Given the description of an element on the screen output the (x, y) to click on. 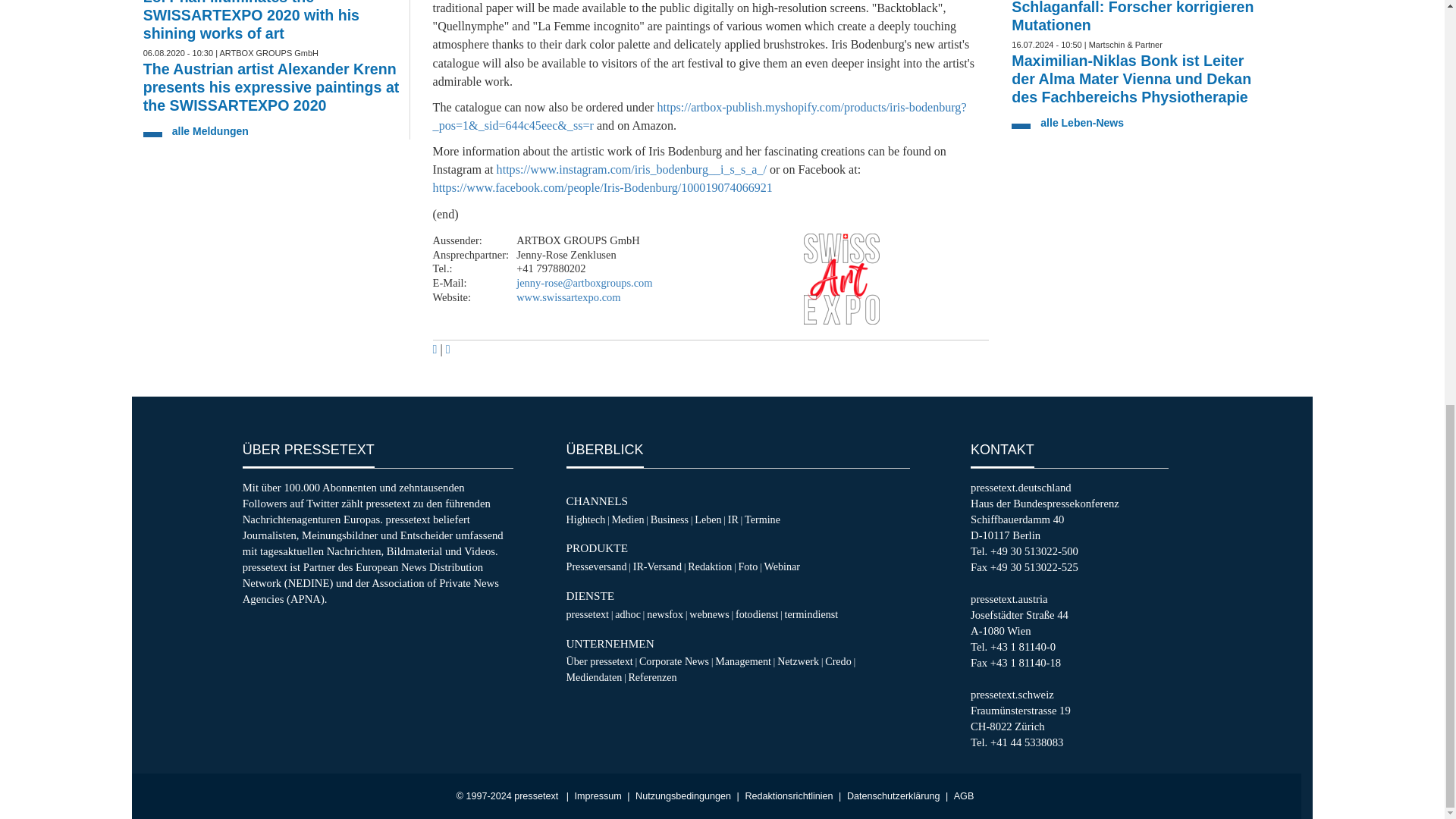
ARTBOX GROUPS GmbH (841, 278)
